Given the description of an element on the screen output the (x, y) to click on. 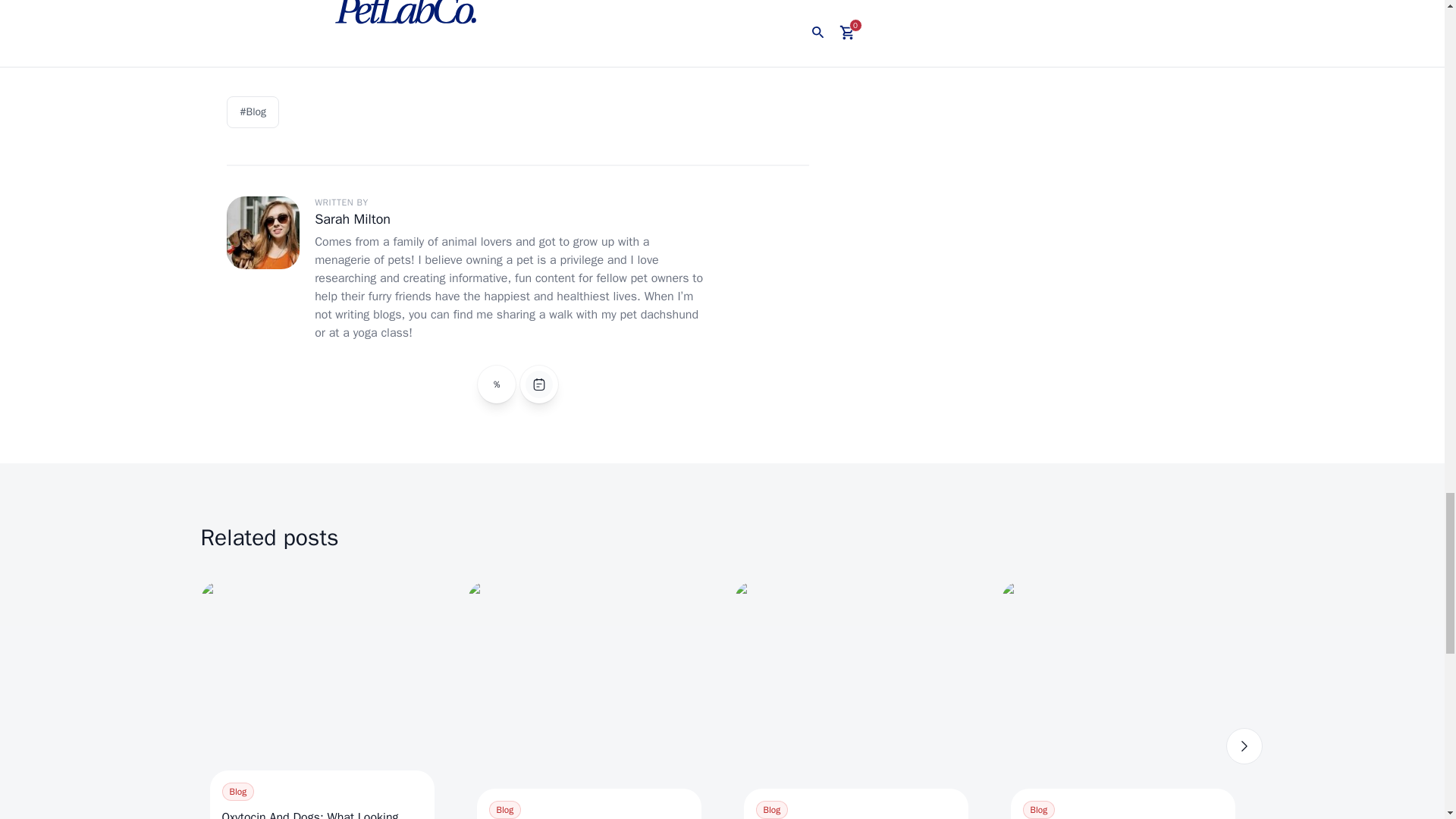
Sarah Milton (352, 218)
